Given the description of an element on the screen output the (x, y) to click on. 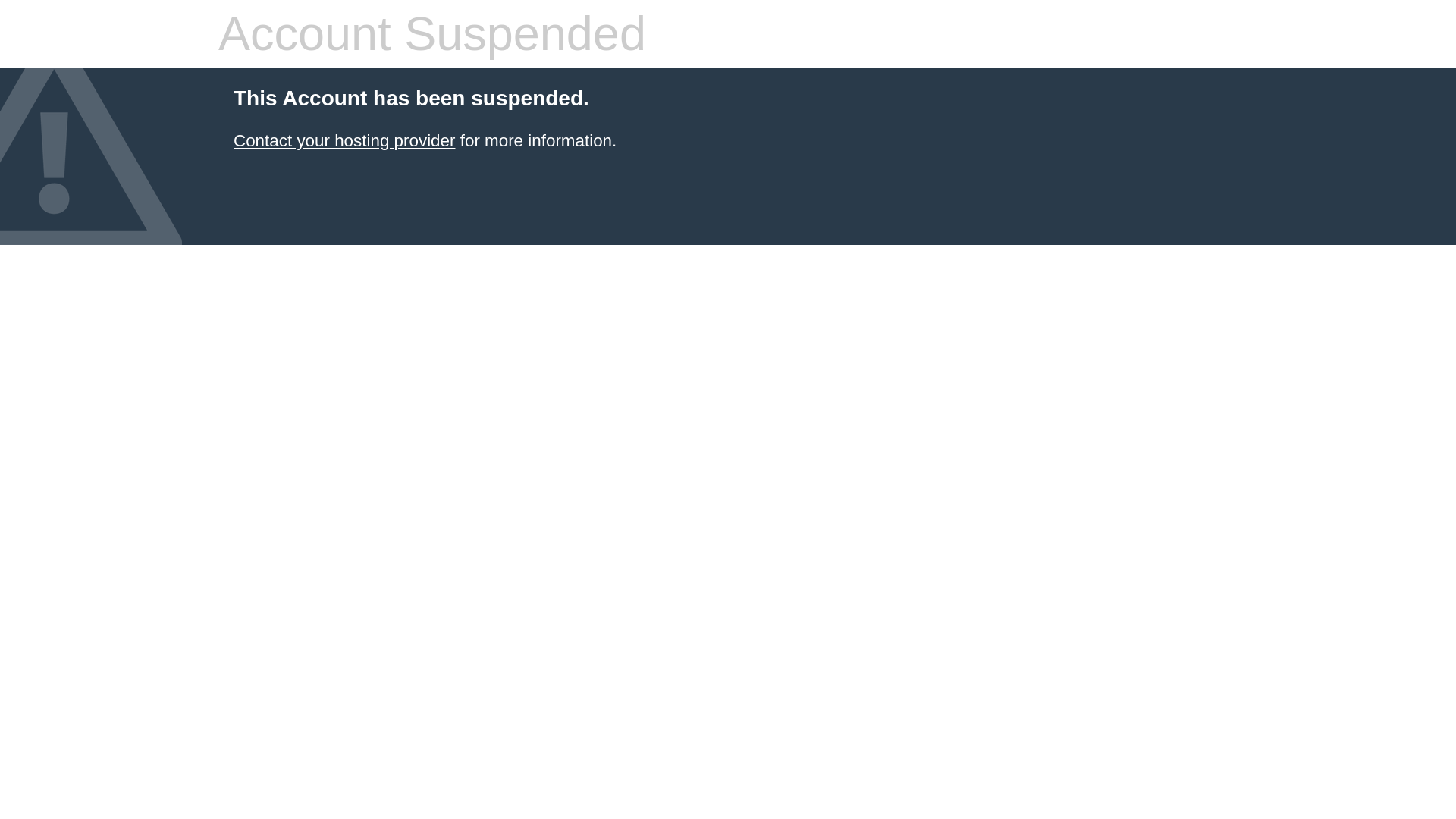
Contact your hosting provider (343, 140)
